Given the description of an element on the screen output the (x, y) to click on. 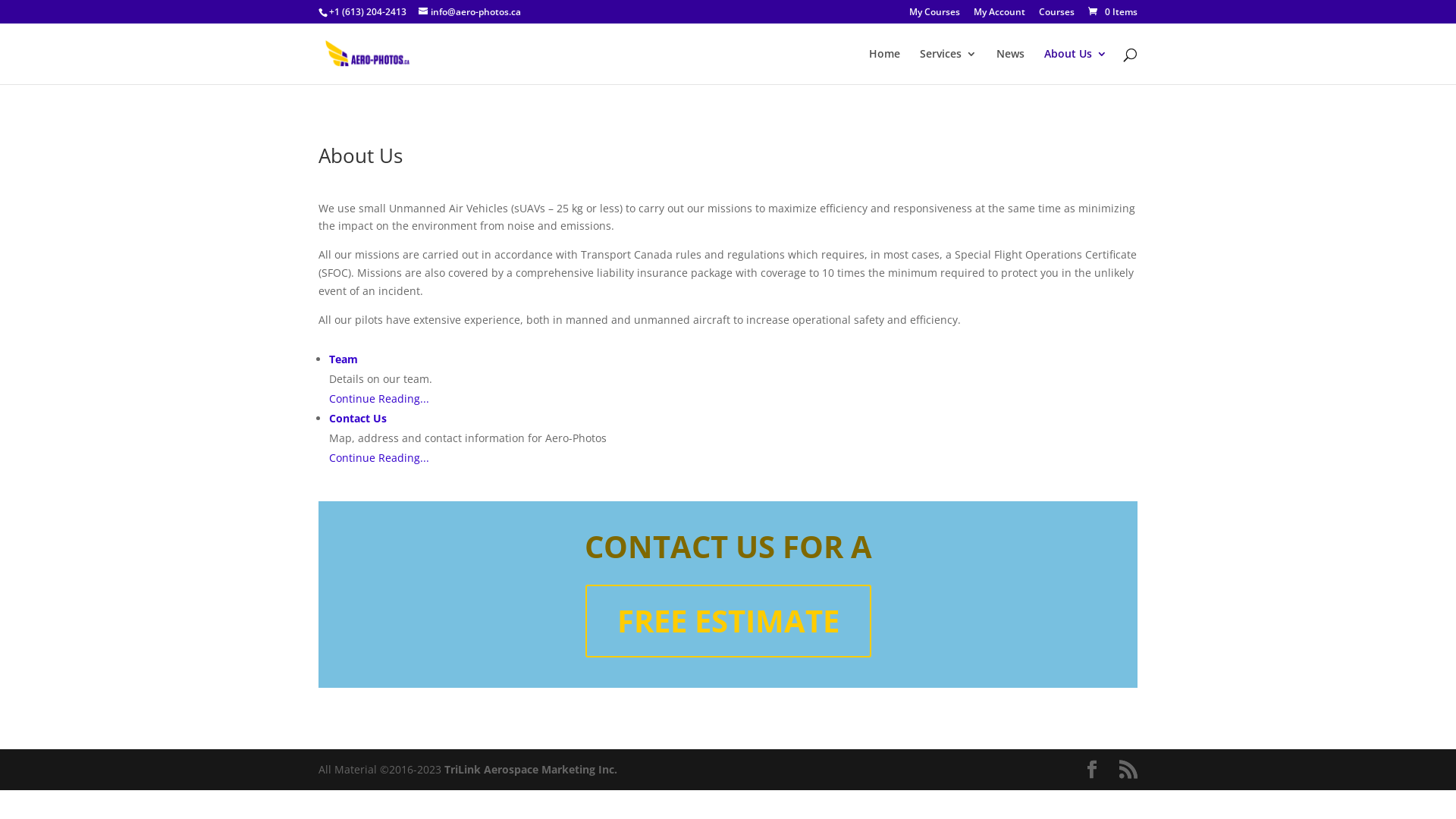
Services Element type: text (947, 66)
Continue Reading... Element type: text (379, 457)
0 Items Element type: text (1111, 11)
TriLink Aerospace Marketing Inc. Element type: text (530, 769)
FREE ESTIMATE Element type: text (728, 620)
Courses Element type: text (1056, 15)
News Element type: text (1010, 66)
Contact Us Element type: text (357, 418)
info@aero-photos.ca Element type: text (469, 11)
About Us Element type: text (1075, 66)
My Account Element type: text (999, 15)
My Courses Element type: text (934, 15)
Team Element type: text (343, 358)
Home Element type: text (884, 66)
Continue Reading... Element type: text (379, 398)
